Given the description of an element on the screen output the (x, y) to click on. 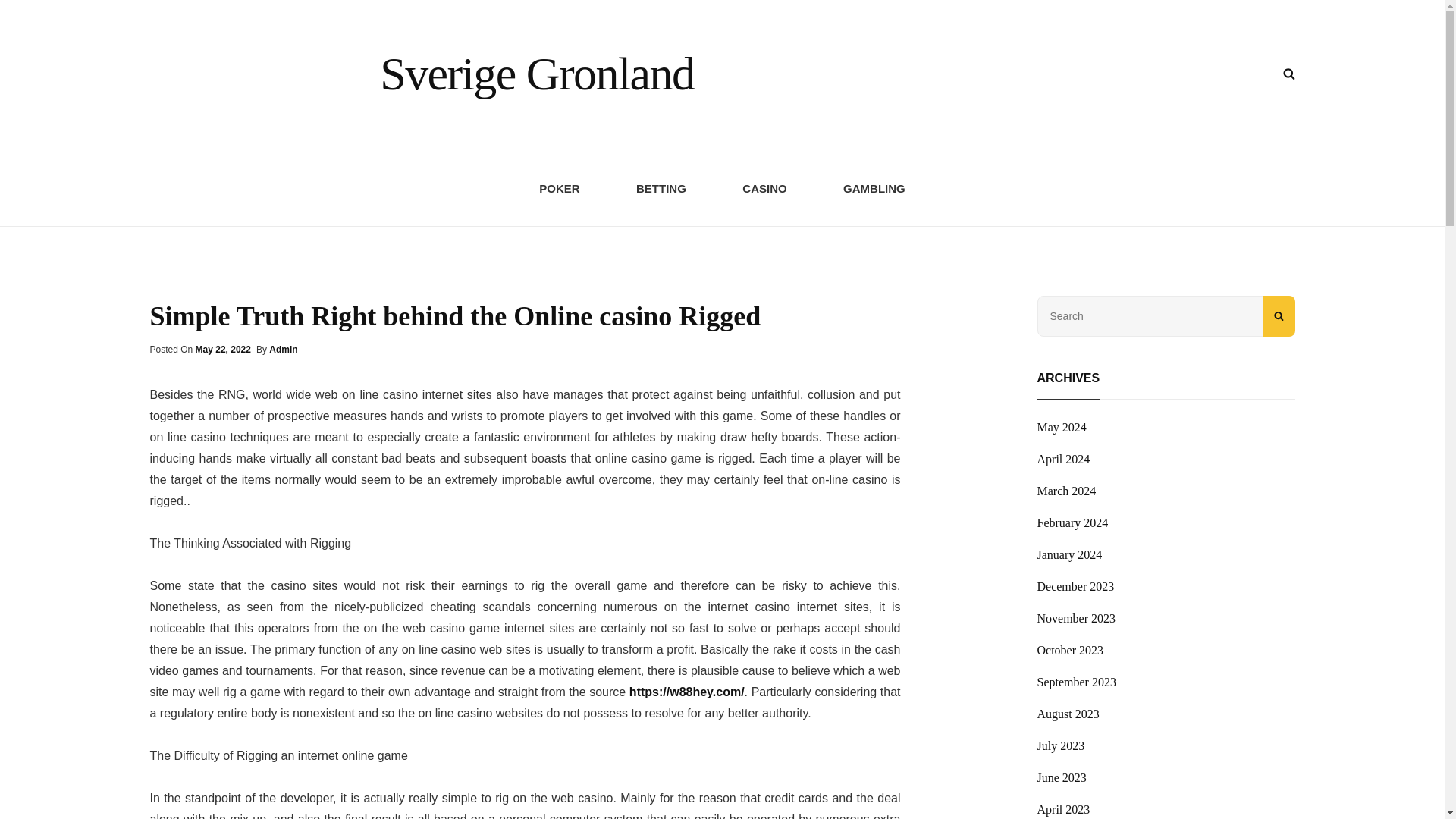
April 2023 (1063, 808)
March 2024 (1066, 491)
September 2023 (1076, 682)
May 22, 2022 (222, 348)
July 2023 (1060, 745)
February 2024 (1072, 523)
December 2023 (1075, 586)
November 2023 (1076, 618)
May 2024 (1061, 427)
Admin (283, 348)
August 2023 (1067, 713)
Sverige Gronland (537, 73)
October 2023 (1069, 650)
January 2024 (1069, 554)
April 2024 (1063, 459)
